Given the description of an element on the screen output the (x, y) to click on. 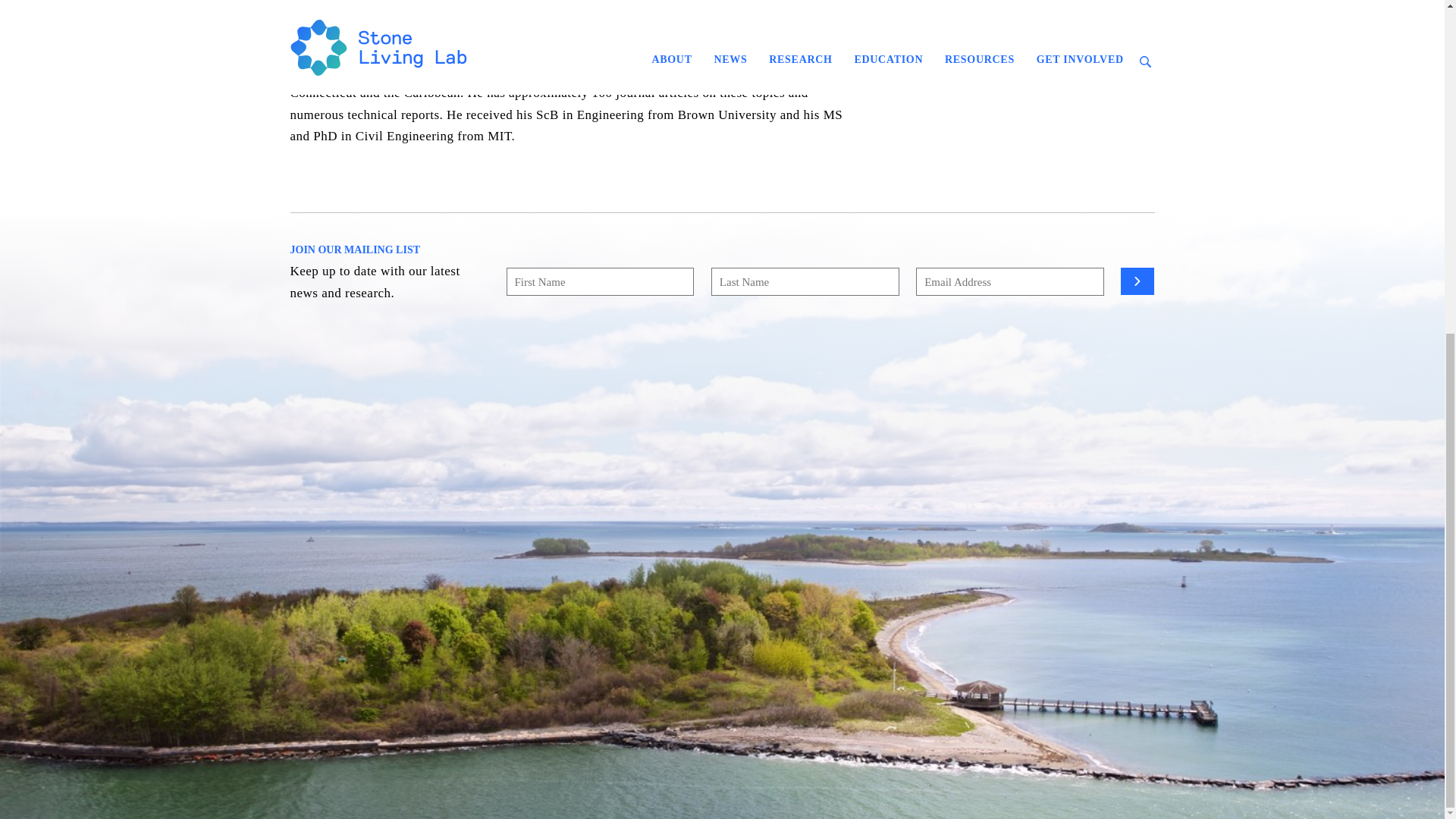
Email Address (1009, 281)
Last Name (805, 281)
First Name (600, 281)
